Given the description of an element on the screen output the (x, y) to click on. 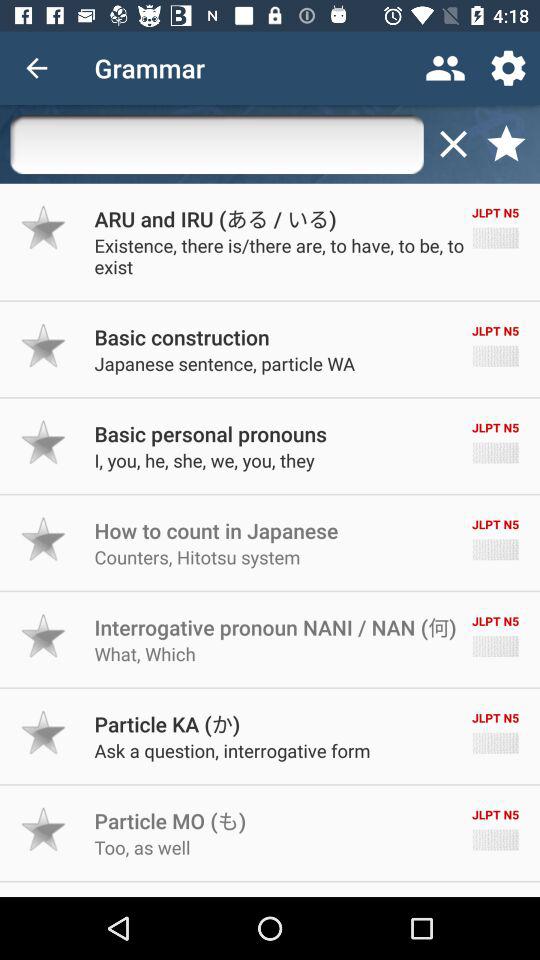
select favorite option (44, 442)
